Given the description of an element on the screen output the (x, y) to click on. 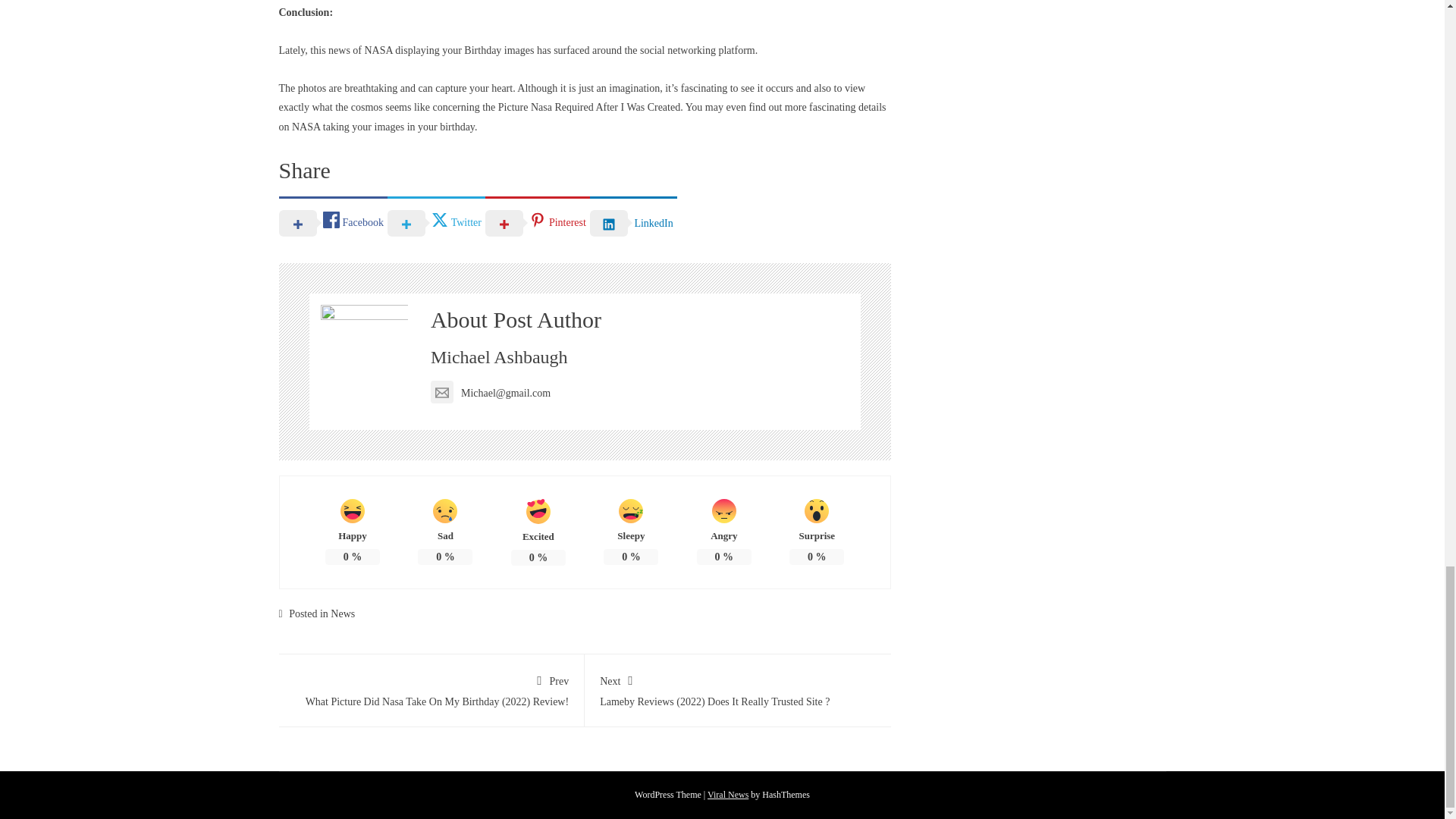
Michael Ashbaugh (498, 356)
LinkedIn (633, 222)
Twitter (435, 222)
Facebook (333, 222)
News (342, 613)
Pinterest (536, 222)
